Given the description of an element on the screen output the (x, y) to click on. 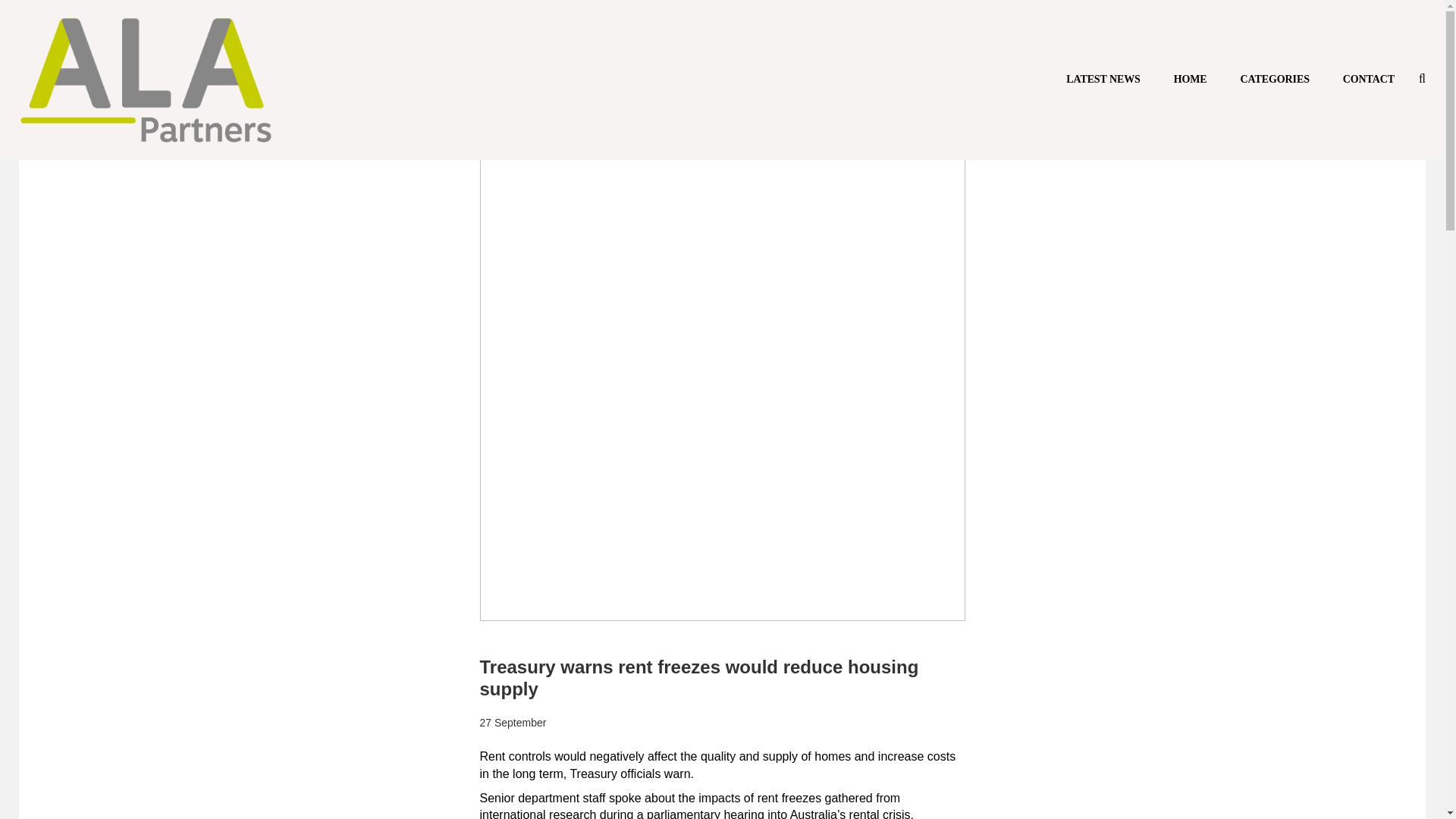
CONTACT (1368, 79)
LATEST NEWS (1102, 79)
CATEGORIES (1274, 79)
ALA Partners (145, 79)
HOME (1190, 79)
